Given the description of an element on the screen output the (x, y) to click on. 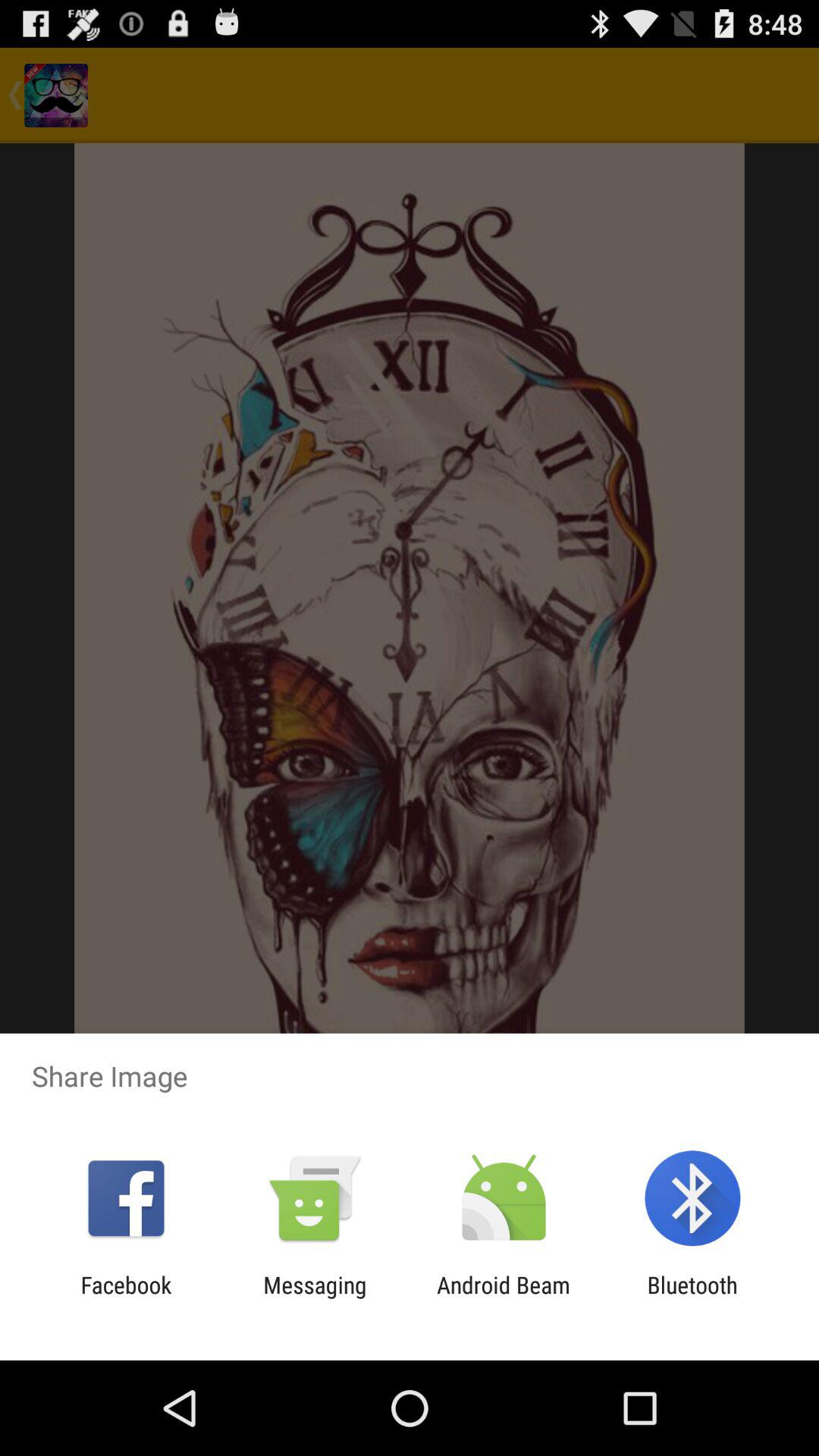
swipe to the messaging item (314, 1298)
